Given the description of an element on the screen output the (x, y) to click on. 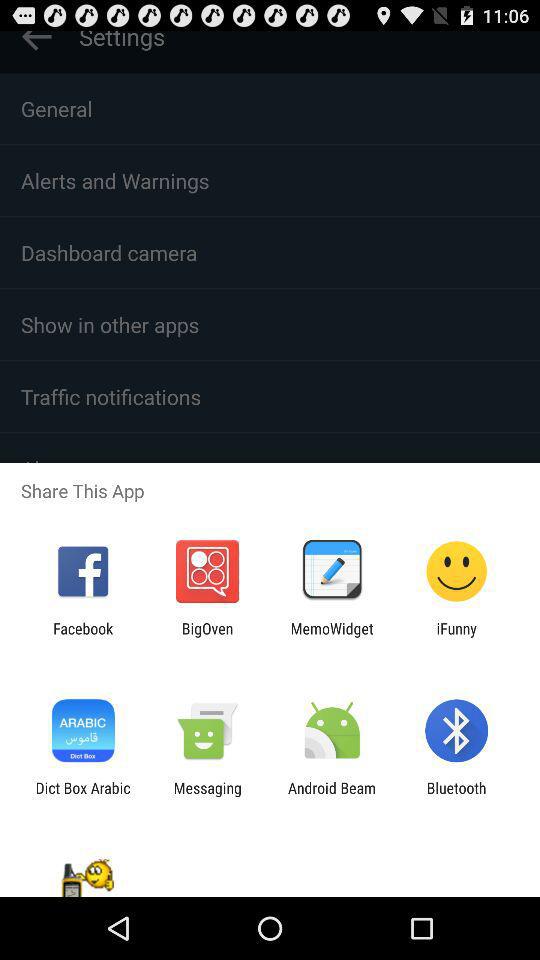
click item to the right of facebook item (207, 637)
